Given the description of an element on the screen output the (x, y) to click on. 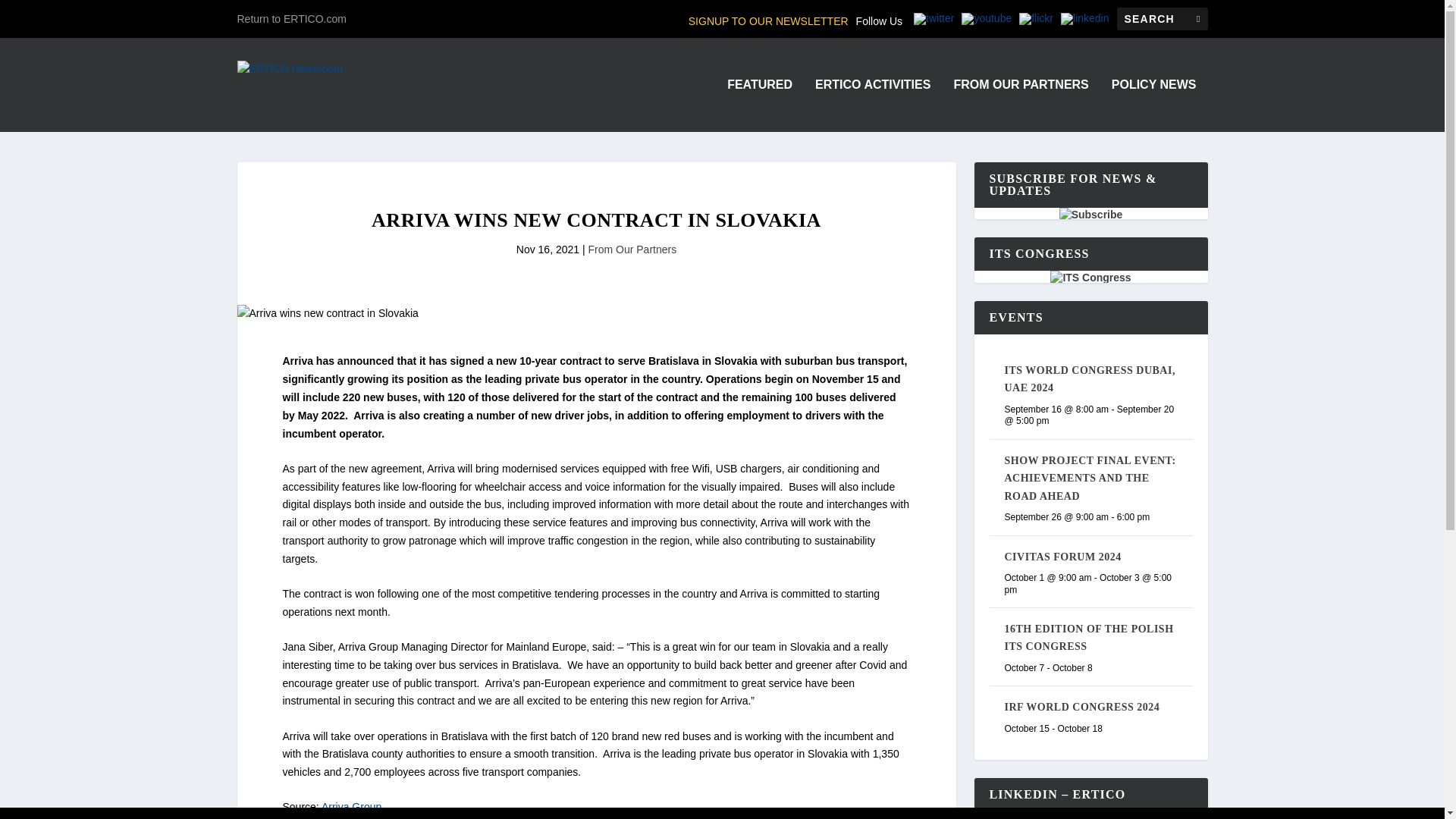
CIVITAS FORUM 2024 (1062, 556)
POLICY NEWS (1154, 104)
FROM OUR PARTNERS (1020, 104)
ITS WORLD CONGRESS DUBAI, UAE 2024 (1089, 378)
From Our Partners (632, 249)
Search for: (1161, 18)
SHOW PROJECT FINAL EVENT: ACHIEVEMENTS AND THE ROAD AHEAD (1089, 478)
ERTICO ACTIVITIES (872, 104)
Return to ERTICO.com (290, 18)
SIGNUP TO OUR NEWSLETTER (768, 21)
Arriva Group (351, 806)
FEATURED (759, 104)
